Given the description of an element on the screen output the (x, y) to click on. 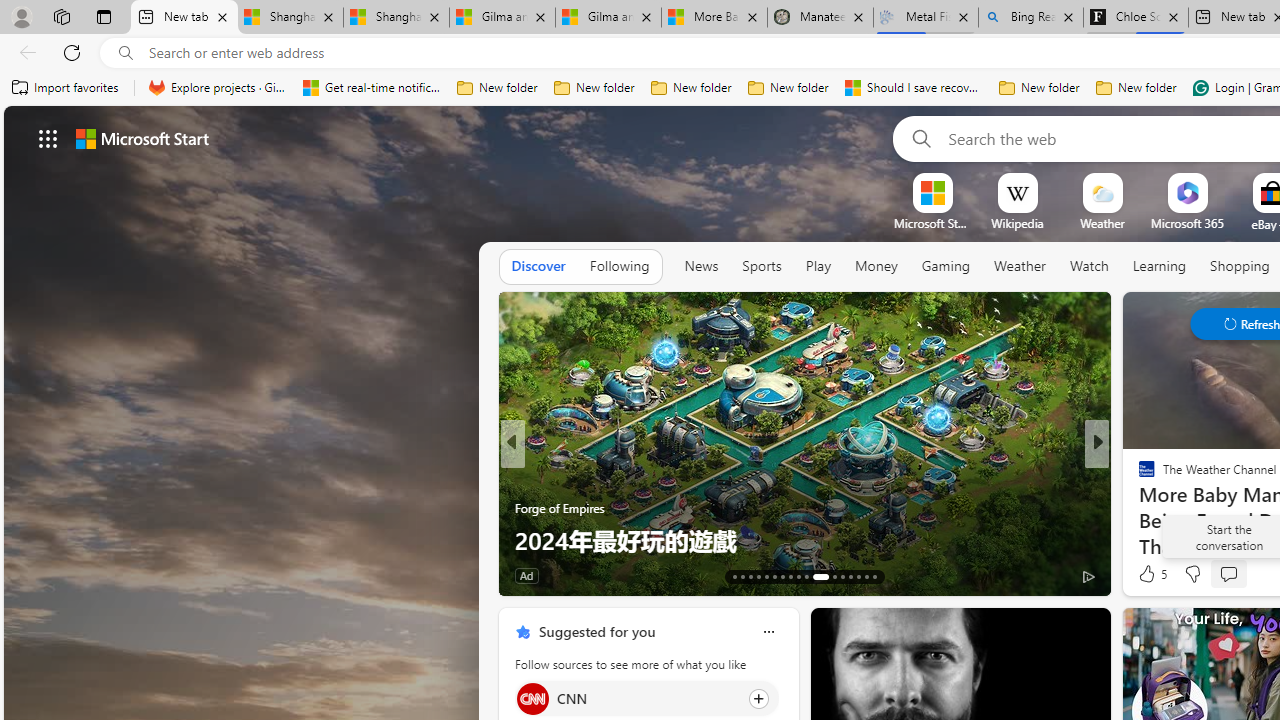
Class: icon-img (768, 632)
Play (817, 265)
Microsoft 365 (1186, 223)
View comments 2 Comment (1229, 575)
16 Like (1149, 574)
AutomationID: tab-17 (765, 576)
The Verge (1138, 475)
17 Like (1149, 574)
151 Like (1151, 574)
View comments 247 Comment (11, 575)
